Given the description of an element on the screen output the (x, y) to click on. 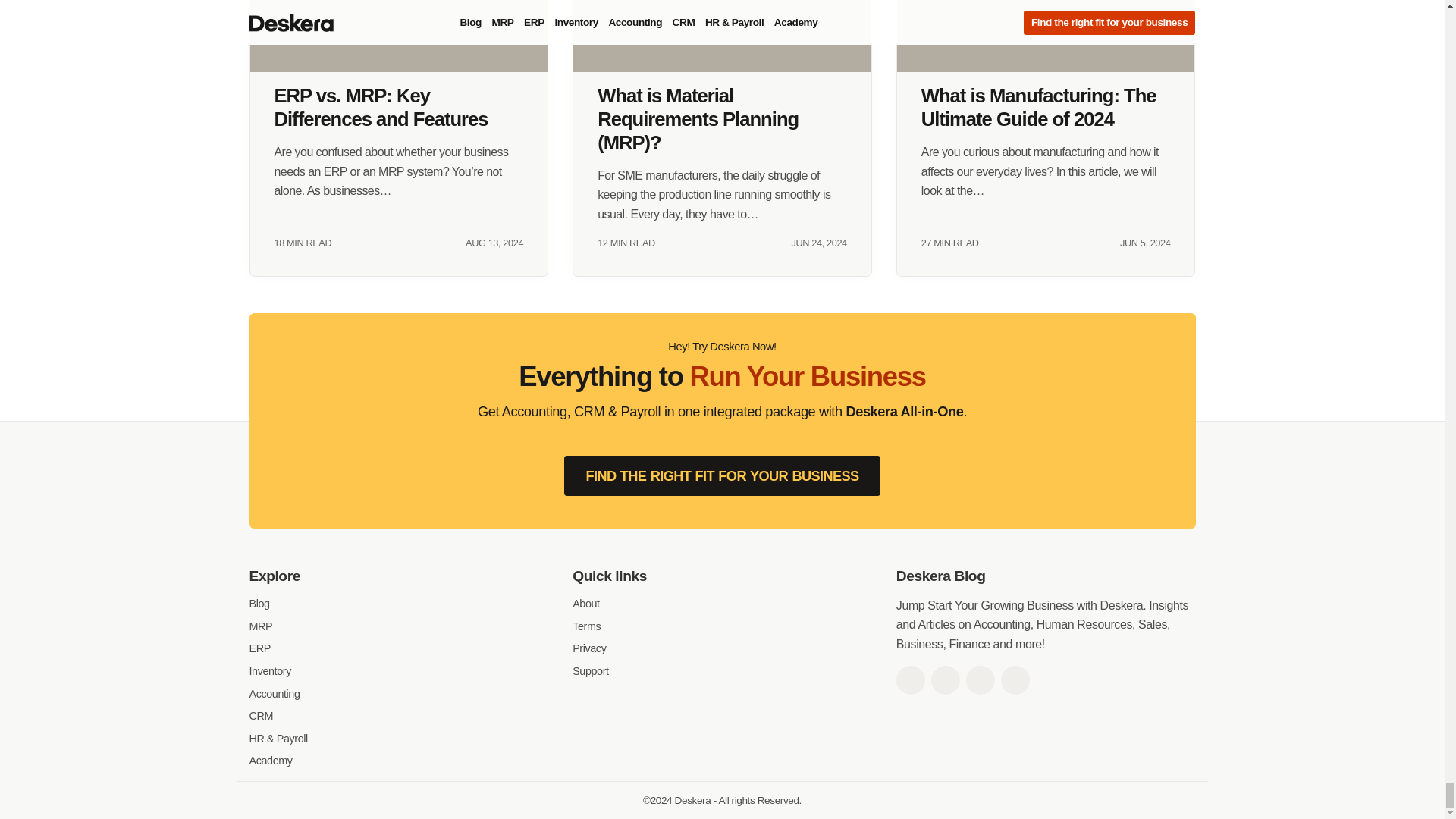
What is Manufacturing: The Ultimate Guide of 2024 (1045, 36)
Facebook (910, 679)
Deskera YouTube (1015, 679)
Deskera Linkedin (980, 679)
Twitter (945, 679)
ERP vs. MRP: Key Differences and Features (399, 36)
